Given the description of an element on the screen output the (x, y) to click on. 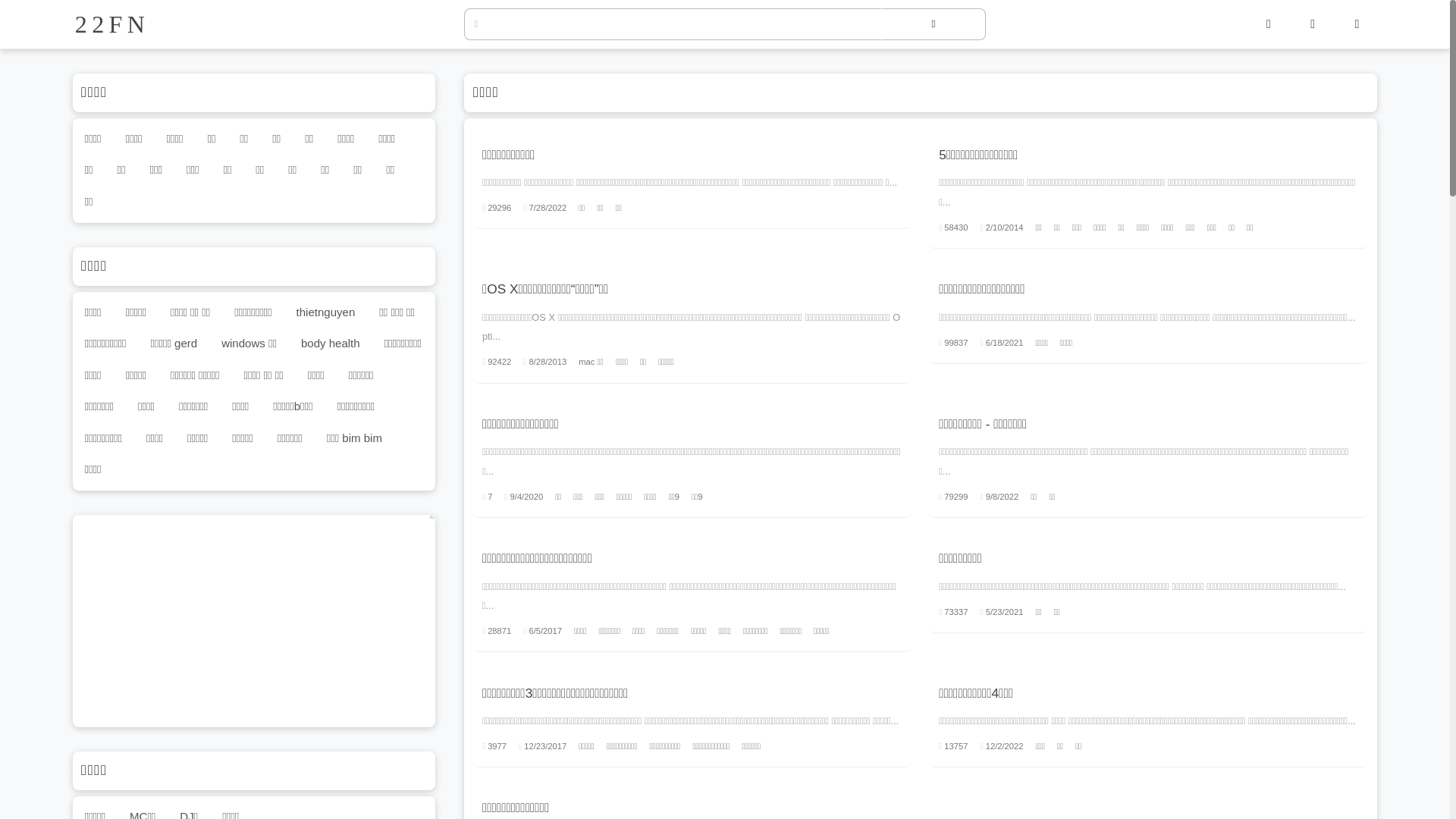
22FN Element type: text (74, 24)
Advertisement Element type: hover (253, 620)
body health Element type: text (330, 343)
thietnguyen Element type: text (325, 311)
